Given the description of an element on the screen output the (x, y) to click on. 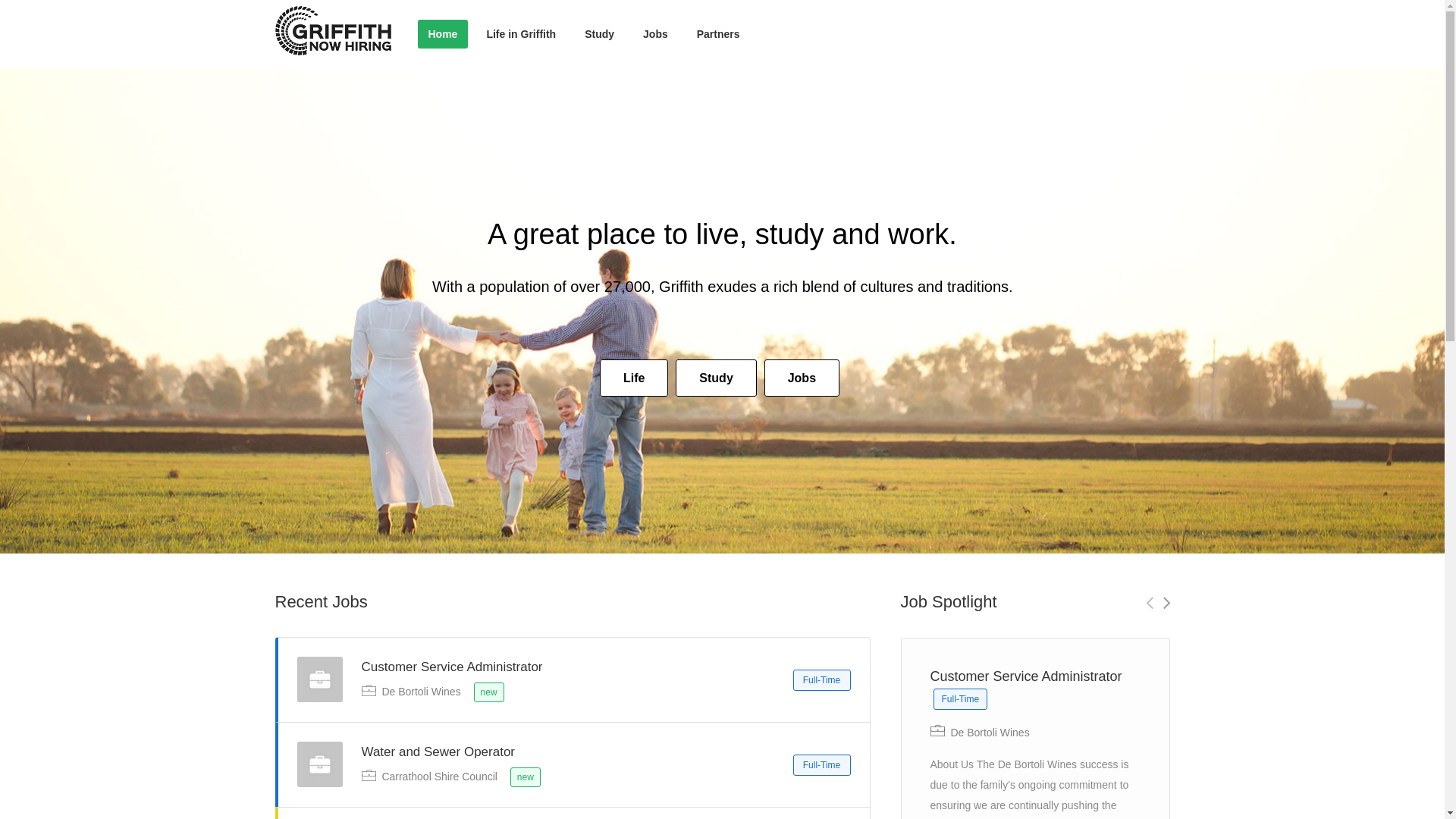
Life in Griffith Element type: text (520, 33)
Home Element type: text (442, 33)
Jobs Element type: text (801, 377)
Study Element type: text (716, 377)
Partners Element type: text (718, 33)
Life Element type: text (633, 377)
Study Element type: text (599, 33)
Customer Service Administrator Full-Time Element type: text (1034, 701)
Jobs Element type: text (655, 33)
